Given the description of an element on the screen output the (x, y) to click on. 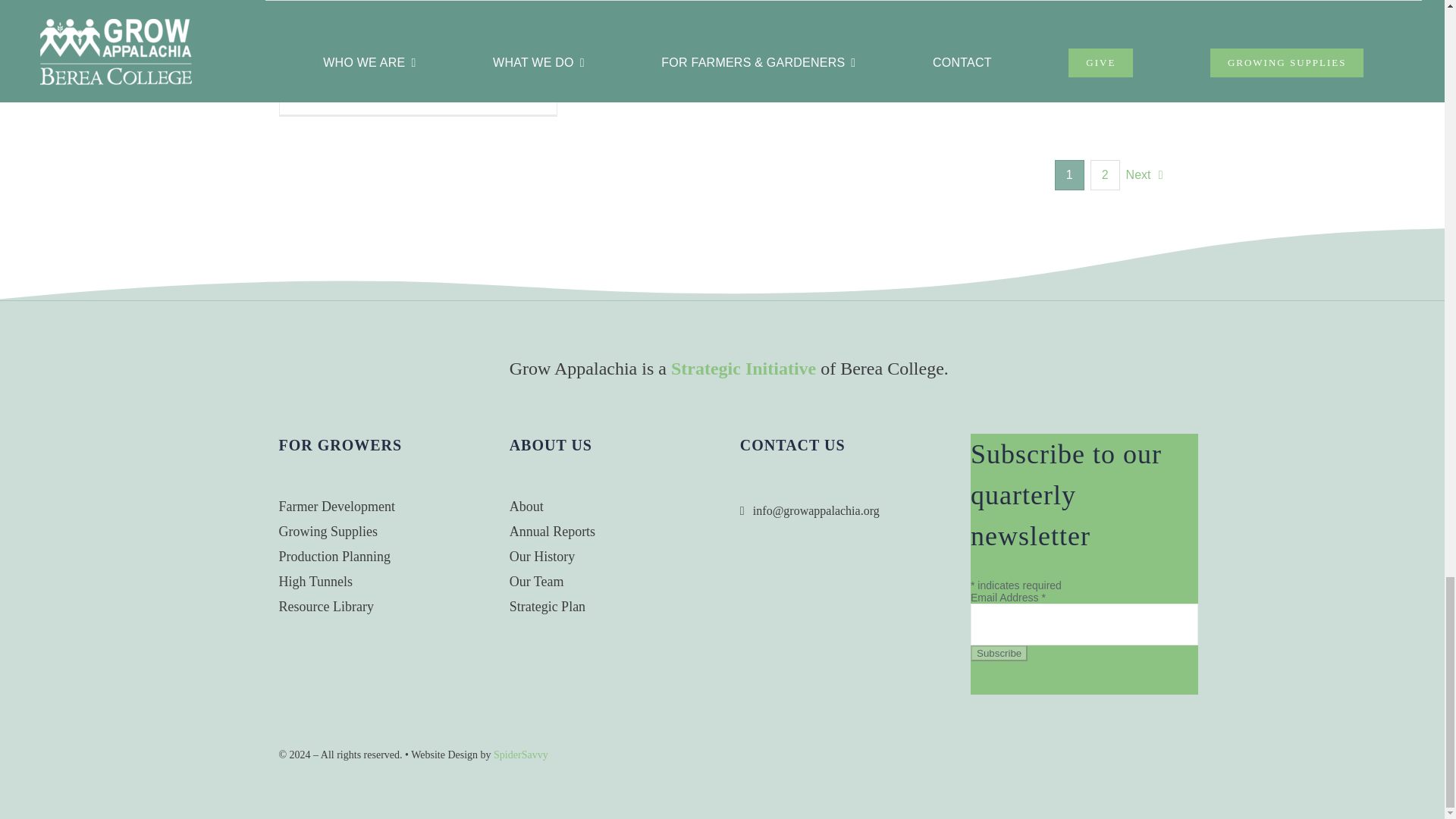
Subscribe (999, 652)
